Given the description of an element on the screen output the (x, y) to click on. 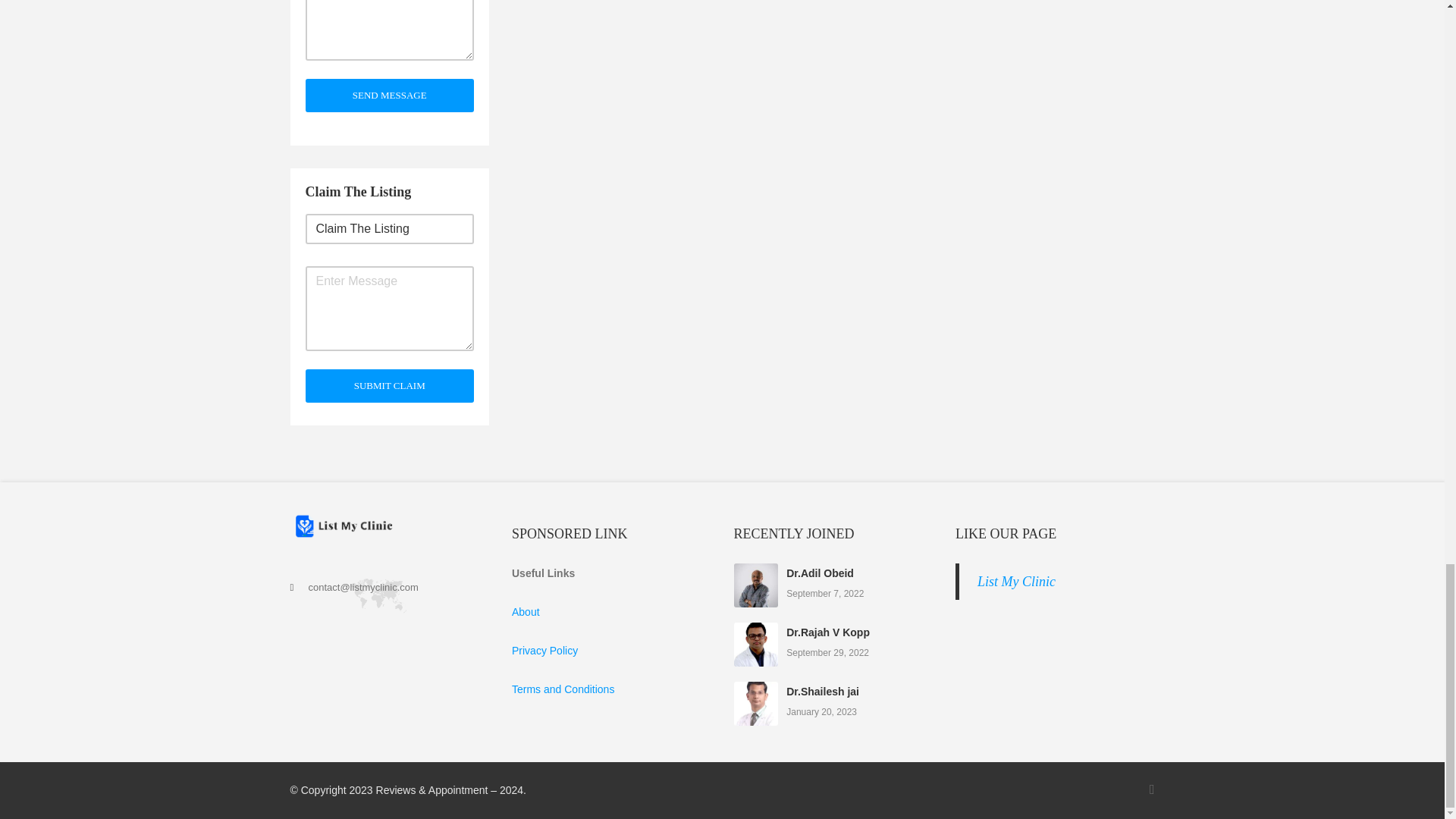
Claim The Listing (389, 228)
Claim The Listing (389, 228)
